Given the description of an element on the screen output the (x, y) to click on. 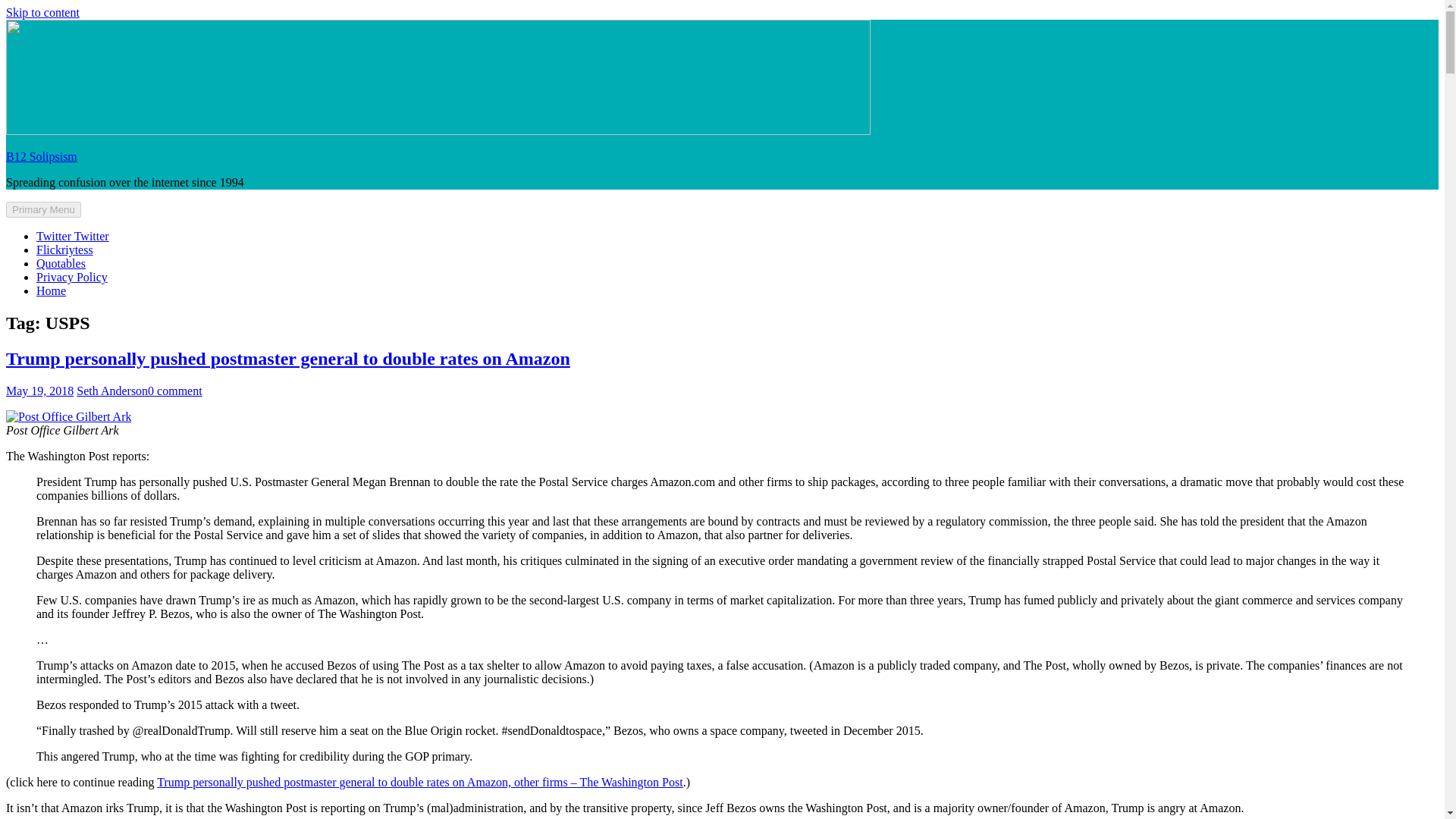
0 comment (175, 390)
Privacy Policy (71, 277)
B12 Solipsism (41, 155)
Seth Anderson (112, 390)
Twitter Twitter (72, 236)
Quotables (60, 263)
Flickriytess (64, 249)
Home (50, 290)
View 'Post Office Gilbert Ark' on Flickr.com (68, 416)
May 19, 2018 (39, 390)
